Given the description of an element on the screen output the (x, y) to click on. 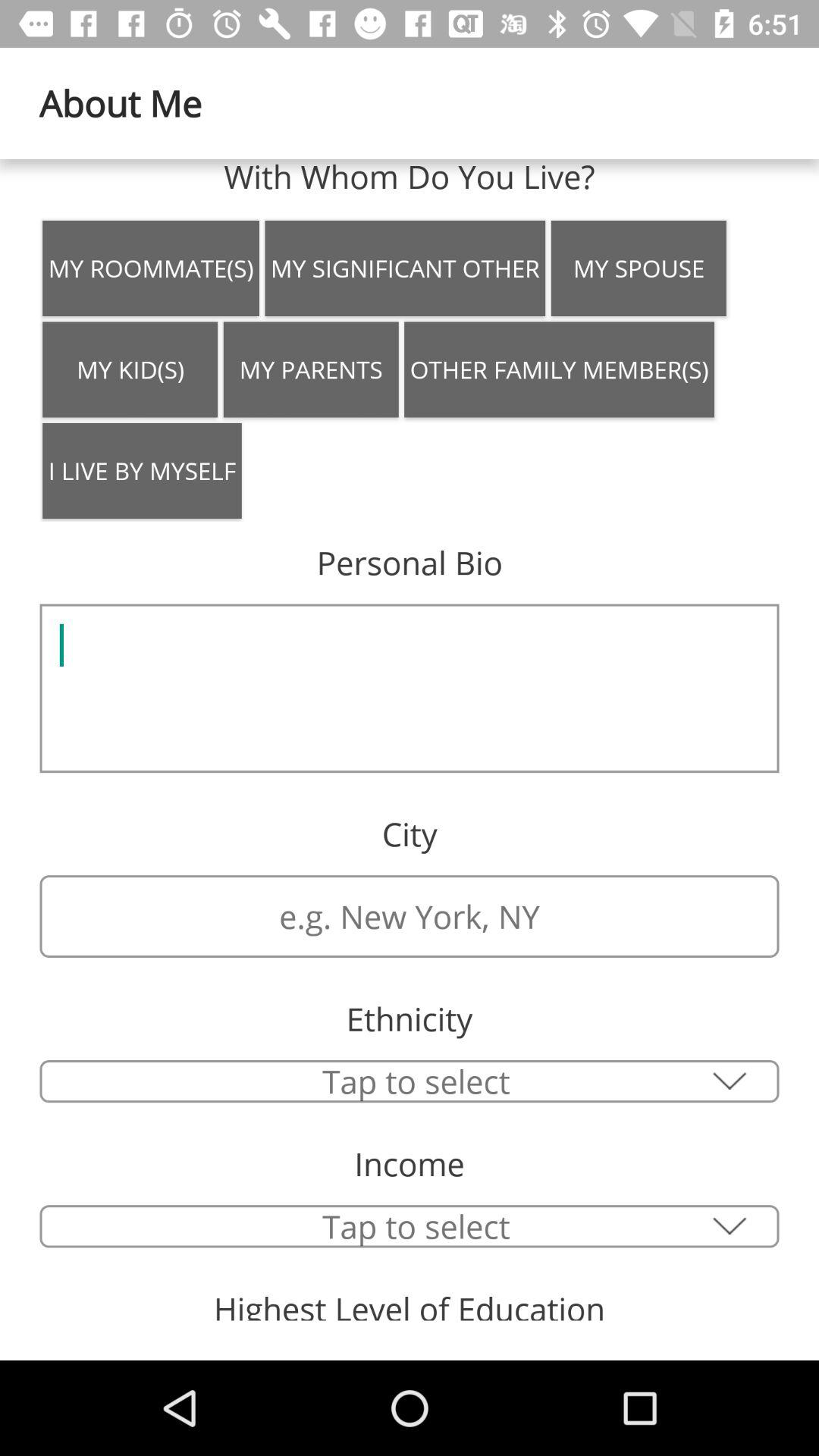
fill in profile (409, 688)
